Given the description of an element on the screen output the (x, y) to click on. 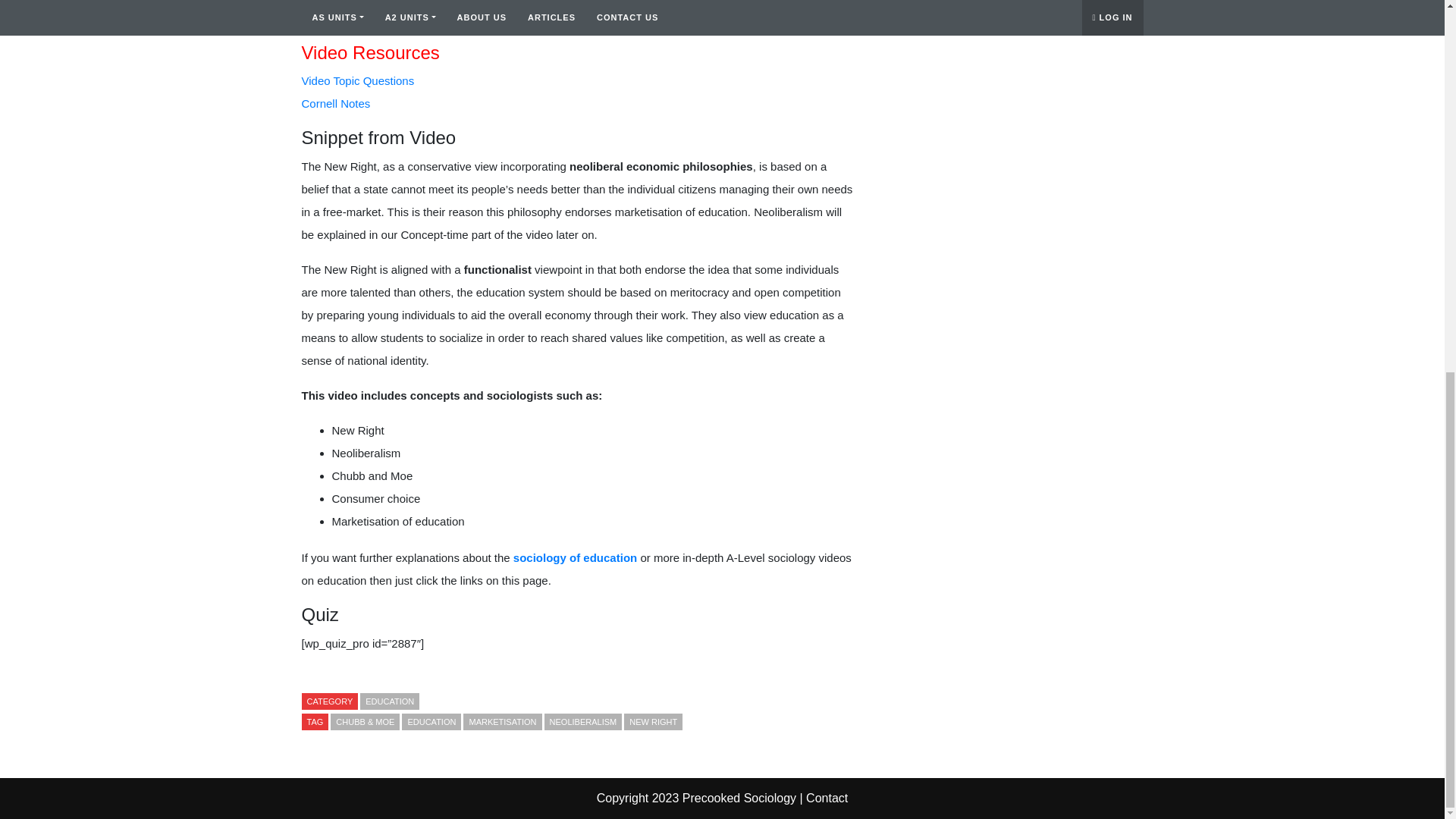
NEOLIBERALISM (583, 721)
NEW RIGHT (653, 721)
Cornell Notes (336, 103)
MARKETISATION (502, 721)
sociology of education (575, 557)
Video Topic Questions (357, 80)
Contact (826, 797)
EDUCATION (431, 721)
EDUCATION (389, 701)
